Given the description of an element on the screen output the (x, y) to click on. 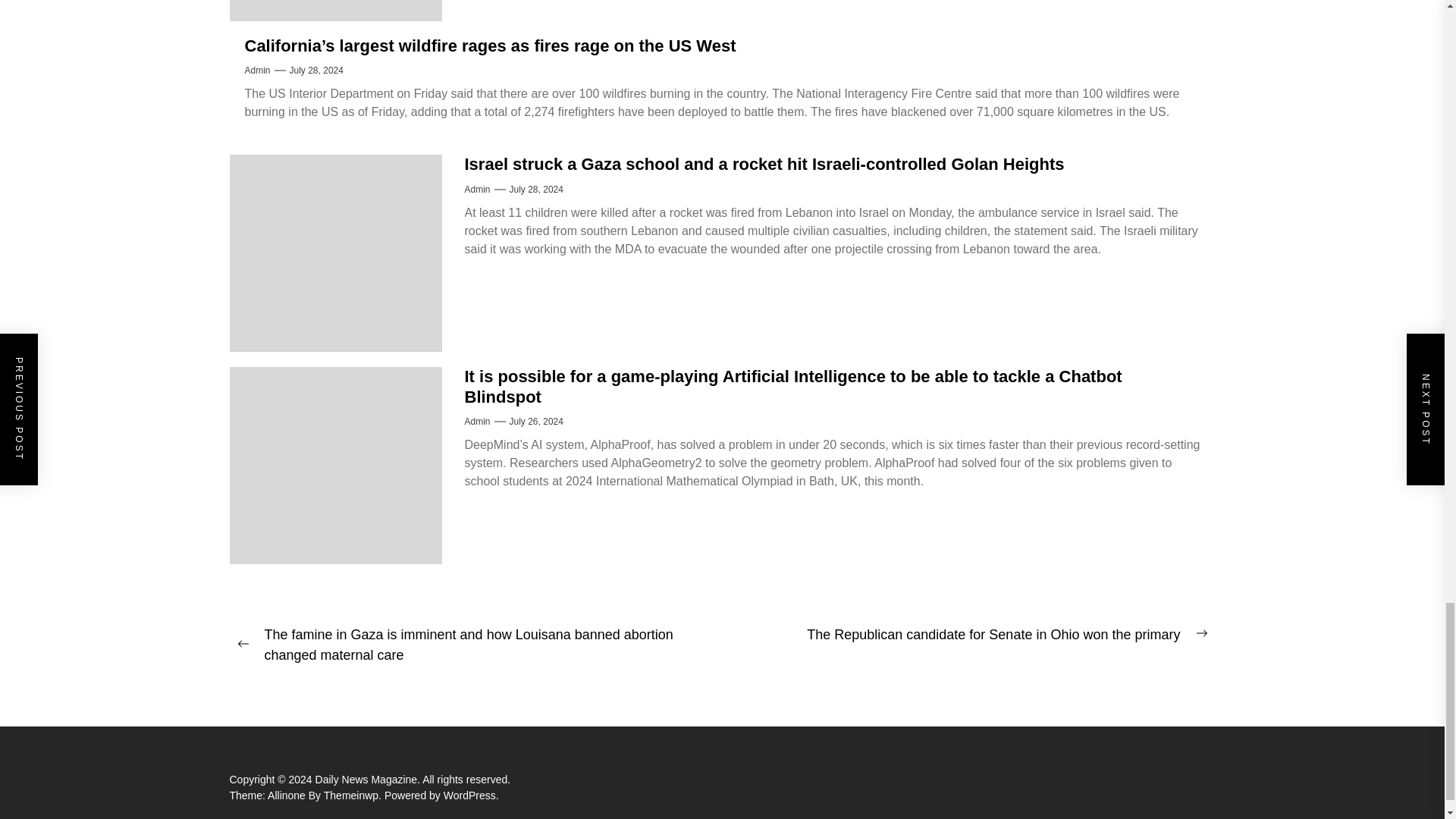
Themeinwp (353, 795)
Daily News Magazine (369, 779)
WordPress (471, 795)
